Given the description of an element on the screen output the (x, y) to click on. 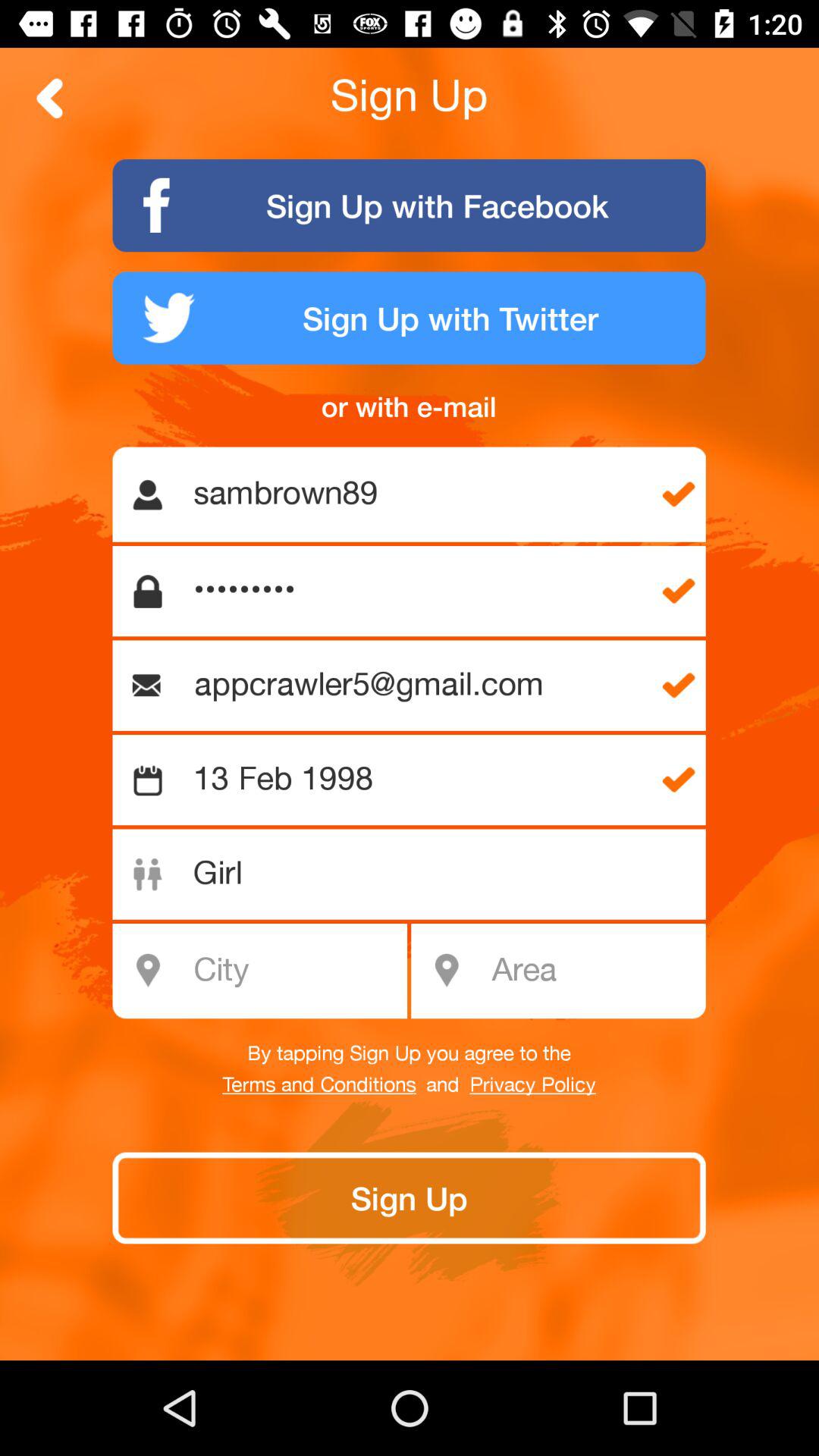
launch item below the girl (593, 970)
